Given the description of an element on the screen output the (x, y) to click on. 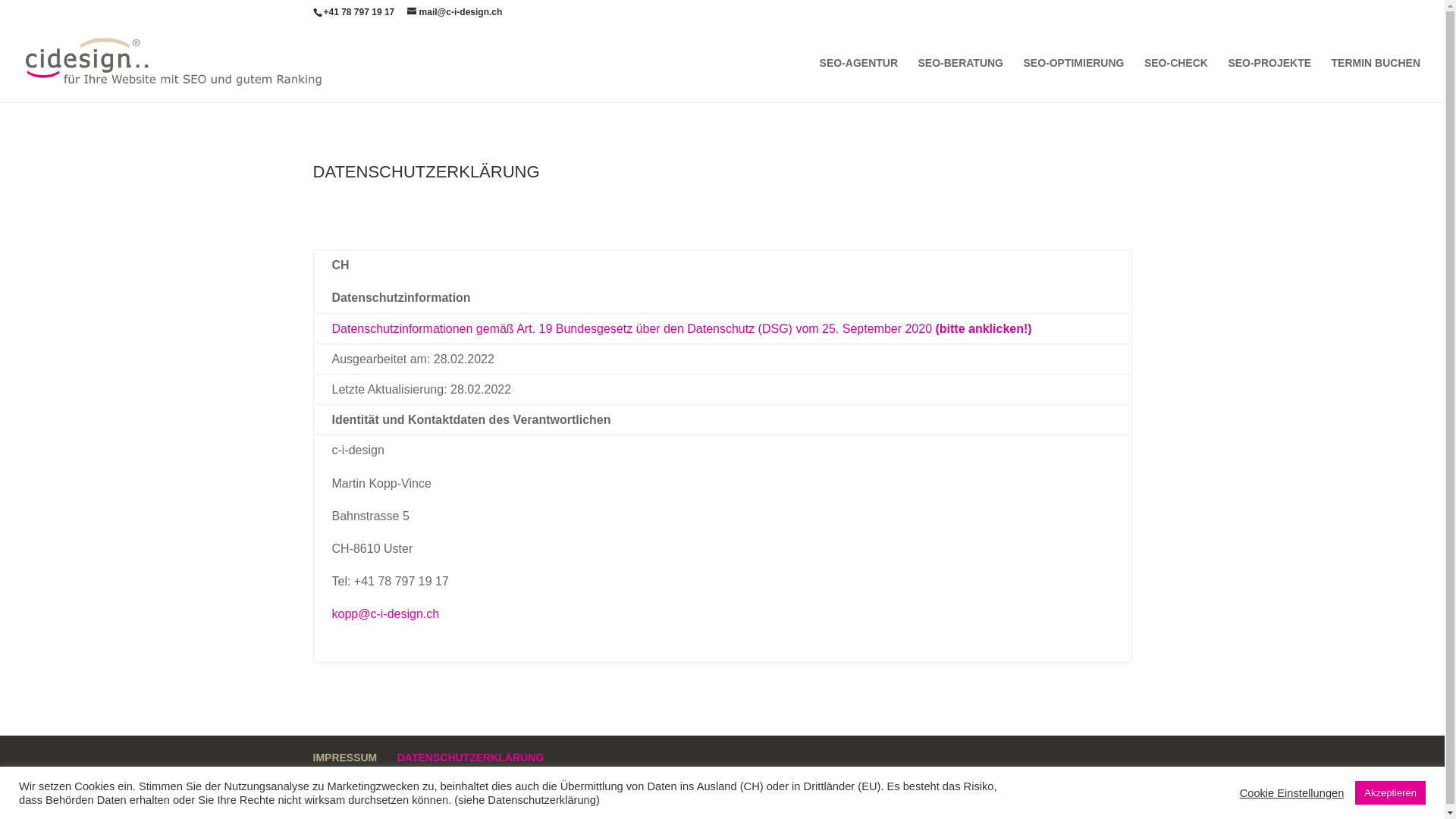
mail@c-i-design.ch Element type: text (454, 11)
TERMIN BUCHEN Element type: text (1375, 79)
SEO-CHECK Element type: text (1176, 79)
SEO-BERATUNG Element type: text (960, 79)
IMPRESSUM Element type: text (344, 757)
Akzeptieren Element type: text (1390, 792)
Cookie Einstellungen Element type: text (1291, 792)
SEO-PROJEKTE Element type: text (1269, 79)
SEO-AGENTUR Element type: text (858, 79)
SEO-OPTIMIERUNG Element type: text (1072, 79)
kopp@c-i-design.ch Element type: text (385, 613)
